Given the description of an element on the screen output the (x, y) to click on. 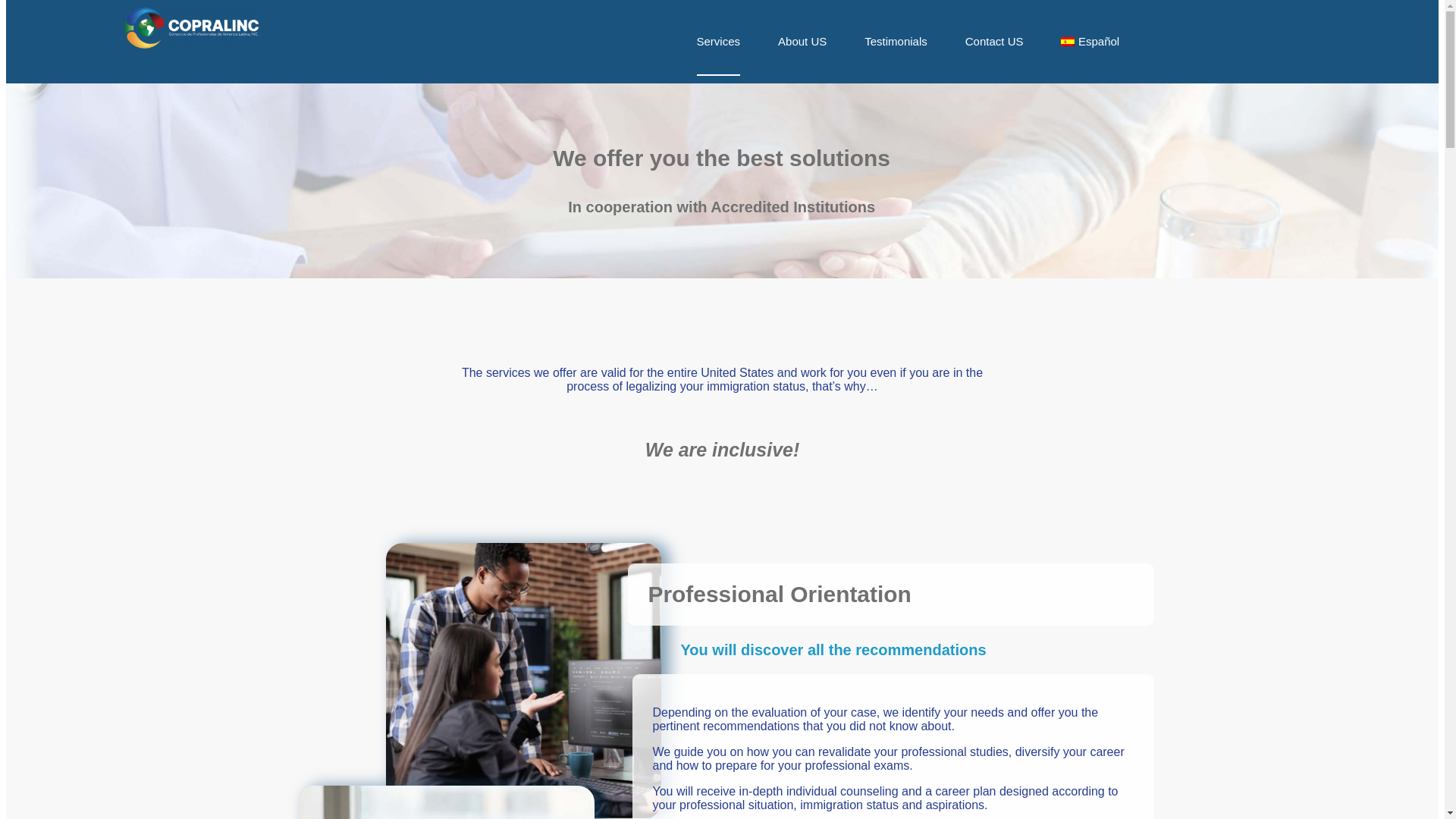
Testimonials (895, 41)
